Given the description of an element on the screen output the (x, y) to click on. 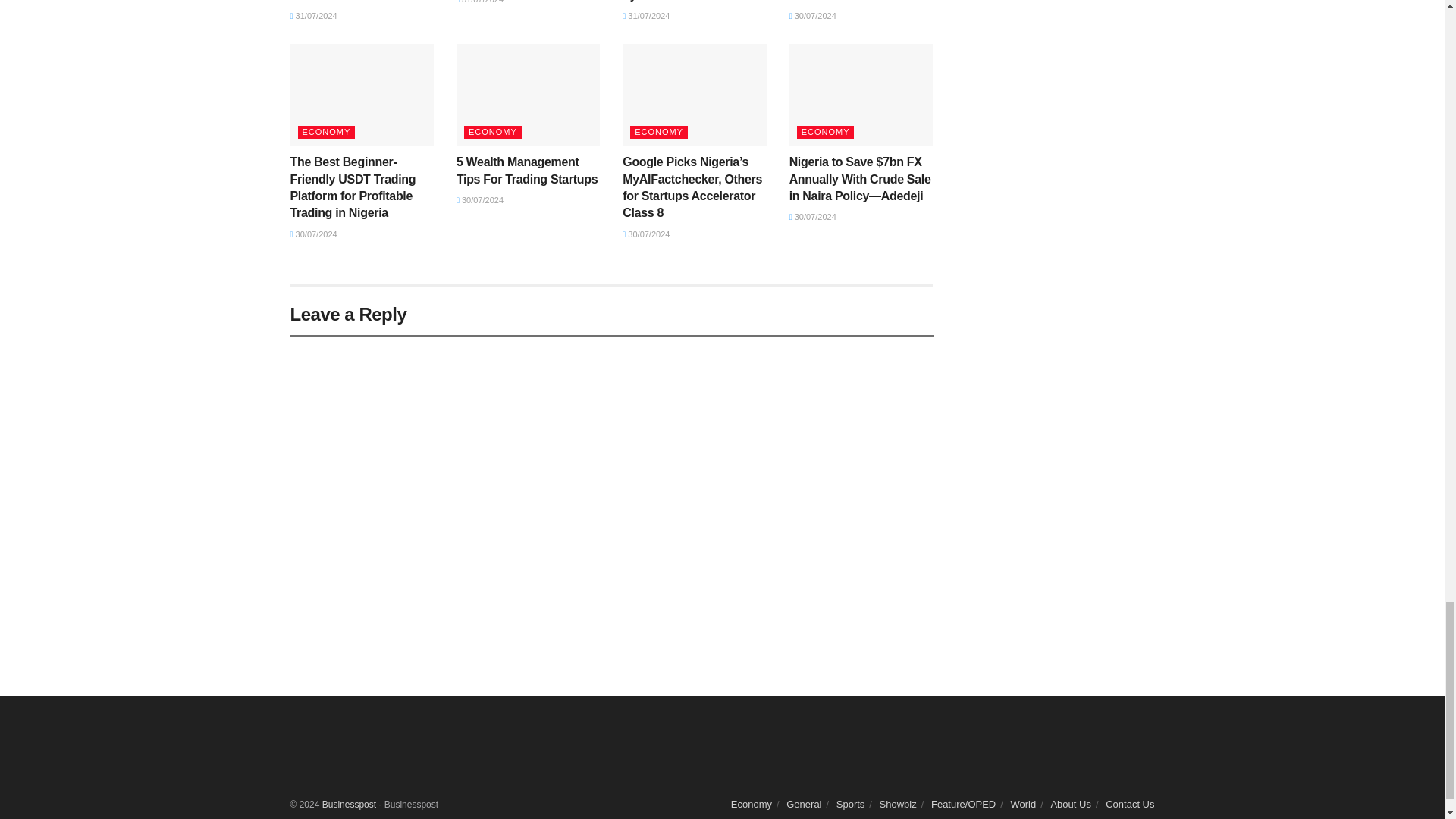
Businesspost (348, 804)
